Given the description of an element on the screen output the (x, y) to click on. 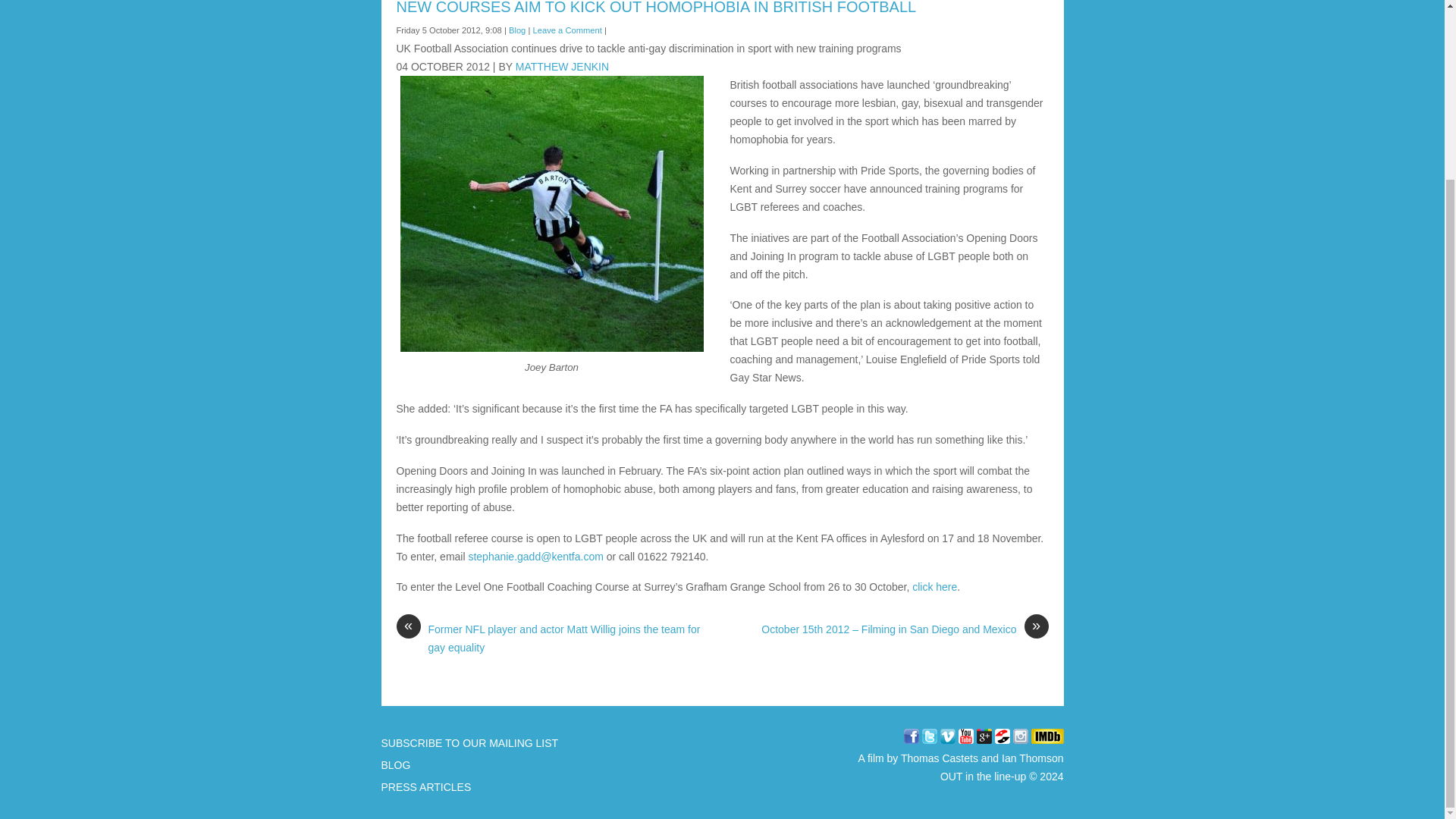
MATTHEW JENKIN (561, 66)
PRESS ARTICLES (425, 787)
 click here (932, 586)
Blog (516, 30)
Leave a Comment (566, 30)
SUBSCRIBE TO OUR MAILING LIST (468, 743)
BLOG (395, 765)
NEW COURSES AIM TO KICK OUT HOMOPHOBIA IN BRITISH FOOTBALL (655, 7)
